Given the description of an element on the screen output the (x, y) to click on. 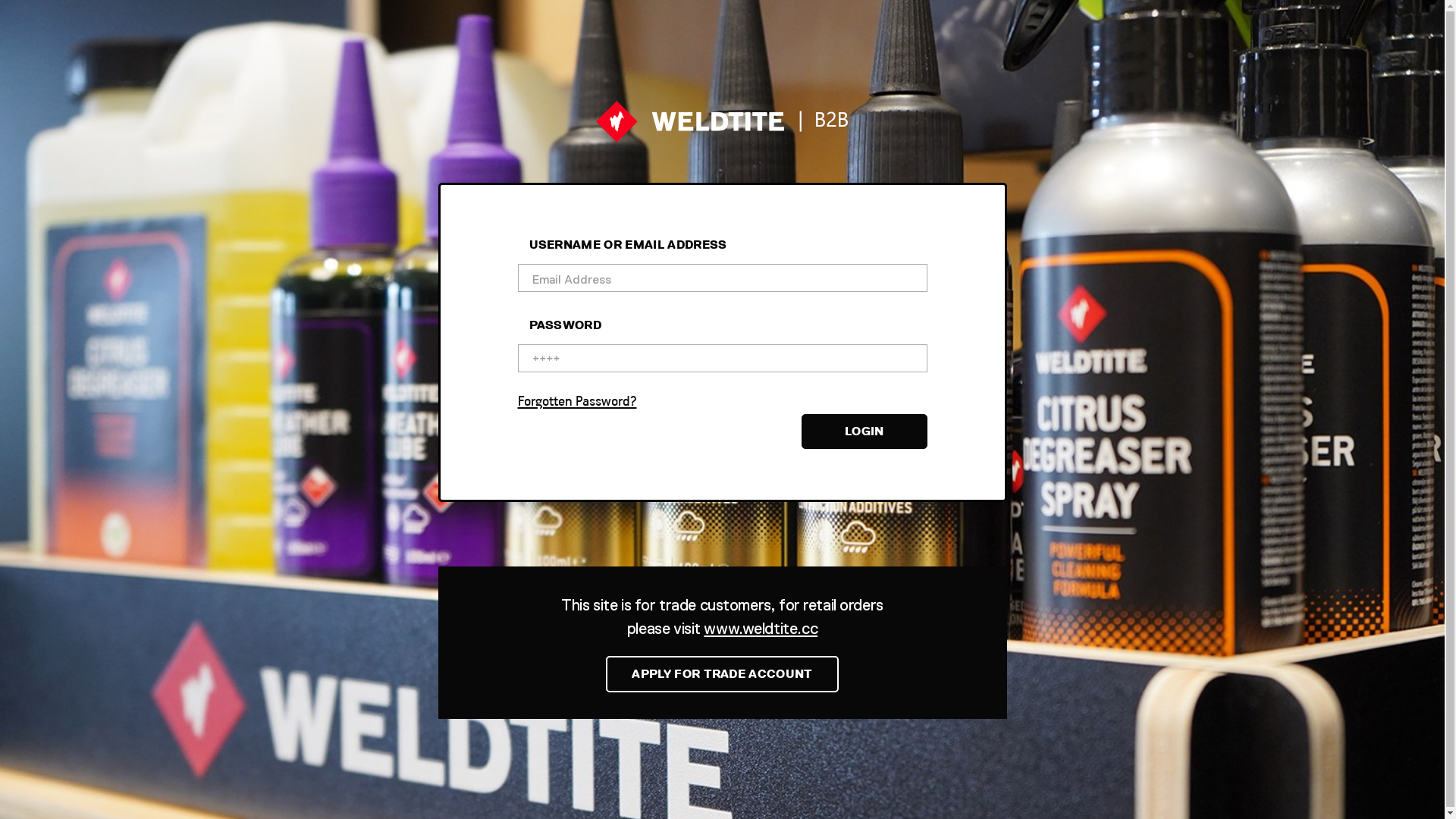
APPLY FOR TRADE ACCOUNT Element type: text (721, 673)
Forgotten Password? Element type: text (721, 401)
LOGIN Element type: text (864, 431)
www.weldtite.cc Element type: text (760, 628)
